Given the description of an element on the screen output the (x, y) to click on. 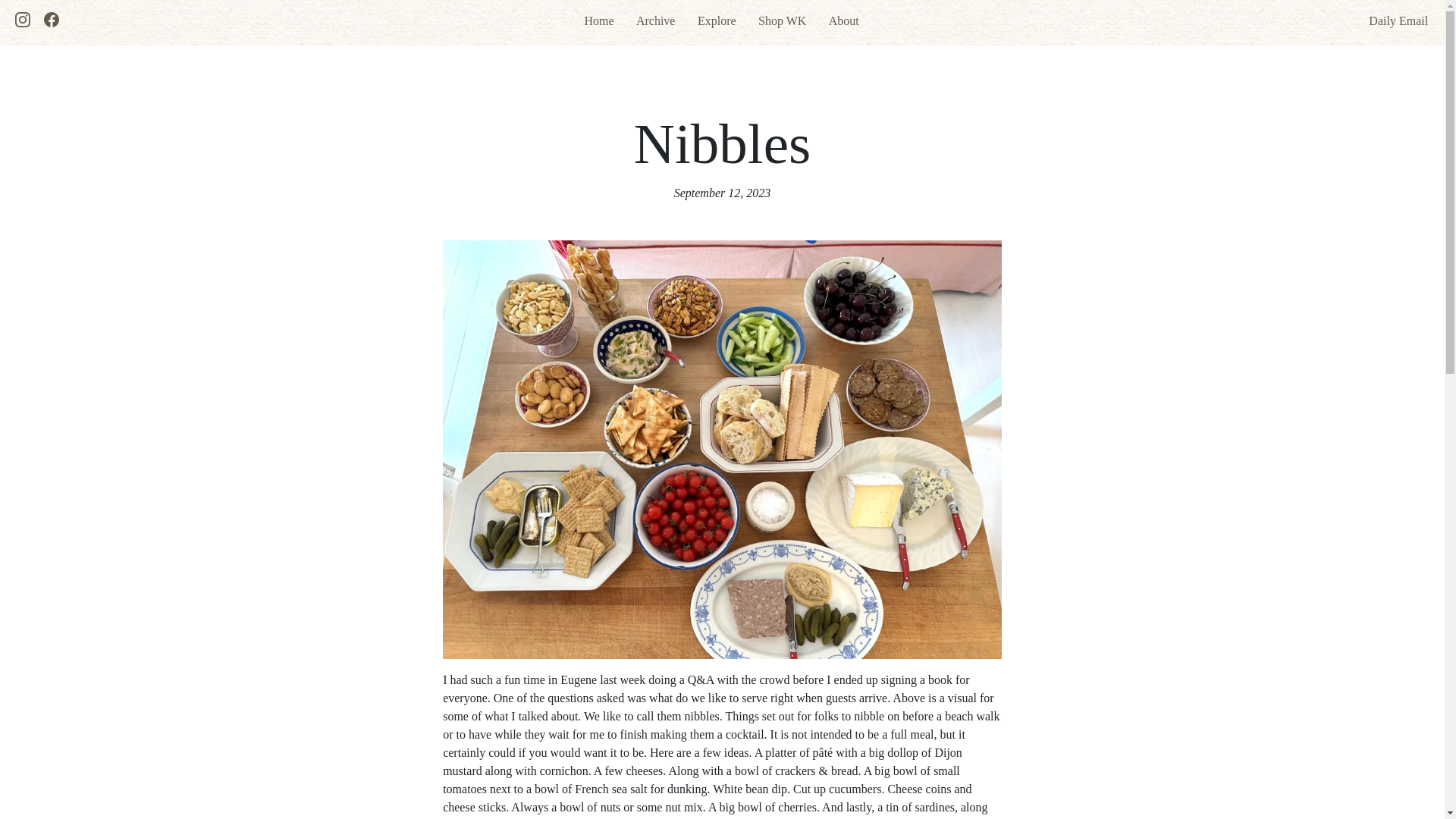
Daily Email (1390, 19)
Archive (655, 20)
Home (597, 20)
About (843, 20)
Shop WK (782, 20)
Explore (716, 20)
